Given the description of an element on the screen output the (x, y) to click on. 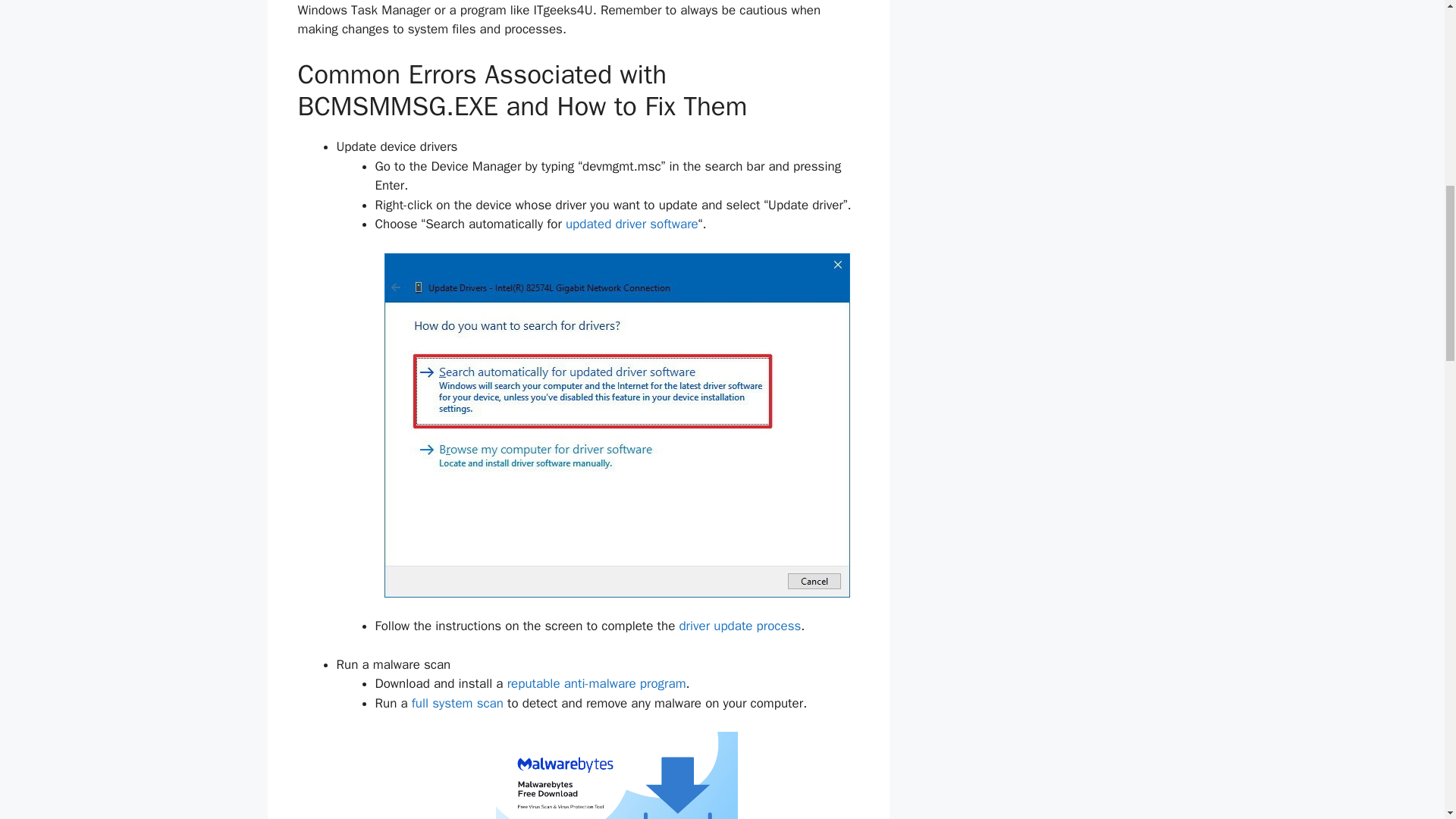
full system scan (457, 703)
Baidu-toolbar.exe Removal Guide (595, 683)
driver update process (739, 625)
updated driver software (632, 223)
reputable anti-malware program (595, 683)
BetterDesktopToolServer.exe Error Repair Guide (739, 625)
